Given the description of an element on the screen output the (x, y) to click on. 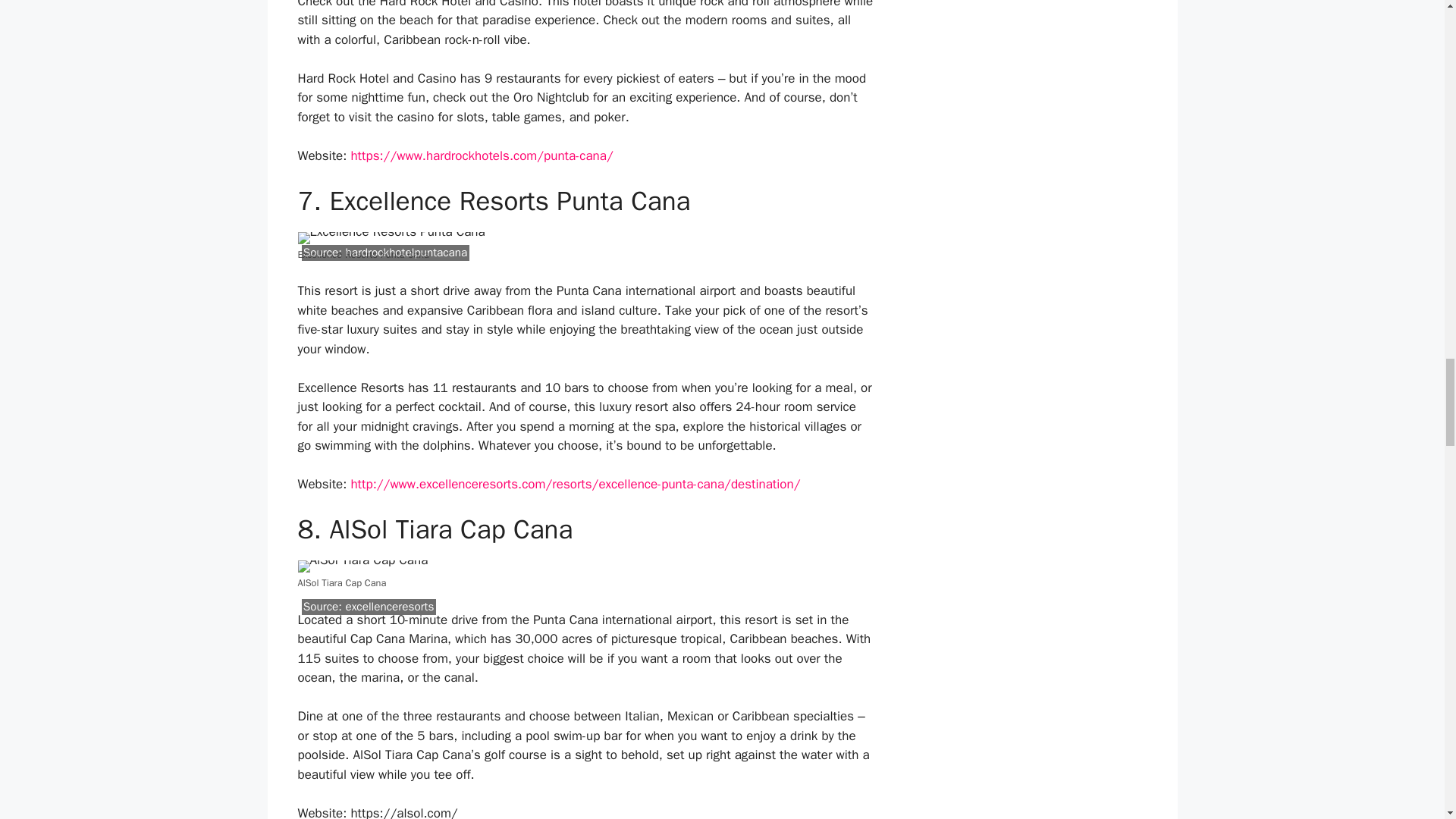
hardrockhotelpuntacana (406, 251)
